Given the description of an element on the screen output the (x, y) to click on. 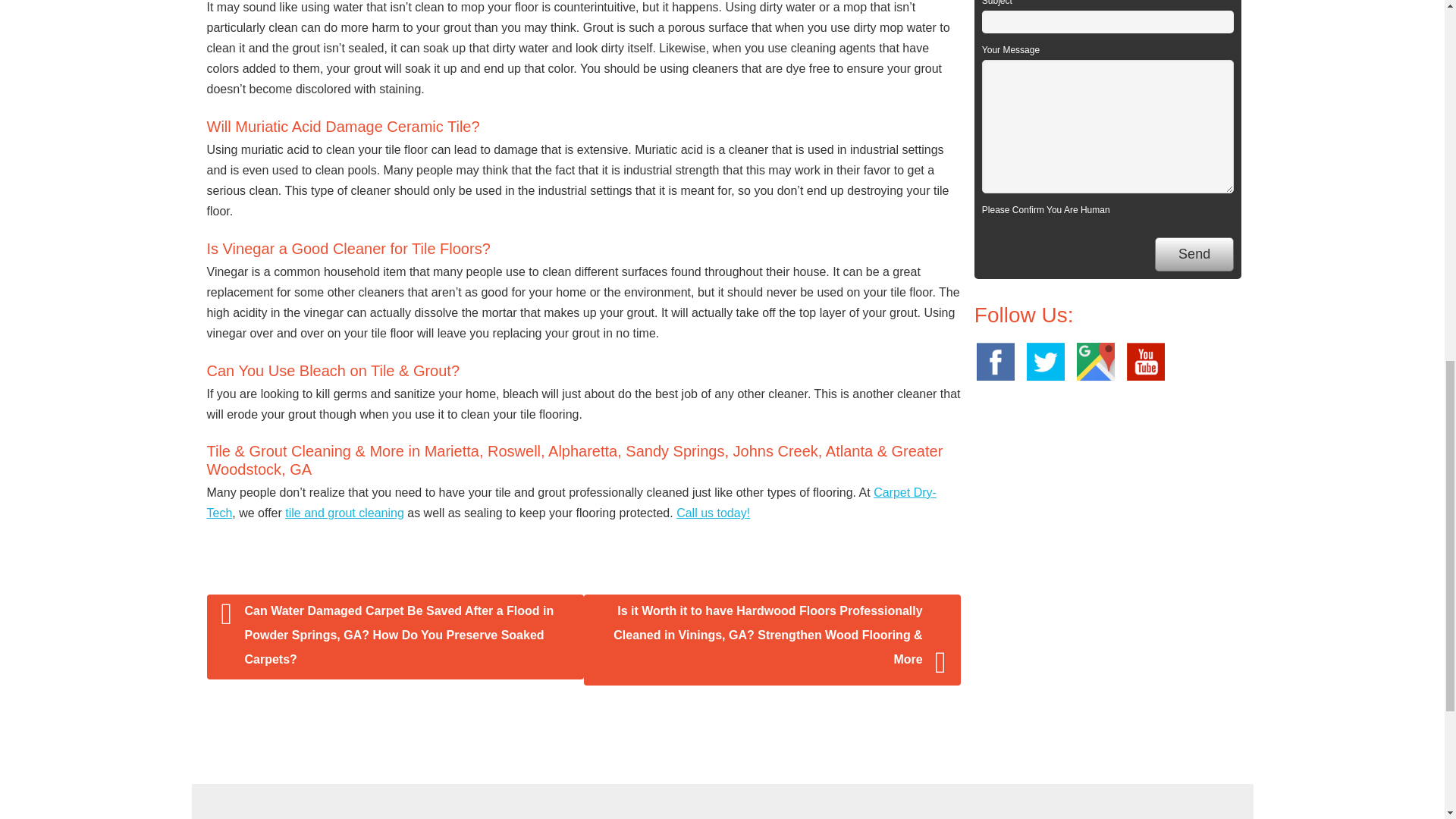
Send (1193, 254)
